Given the description of an element on the screen output the (x, y) to click on. 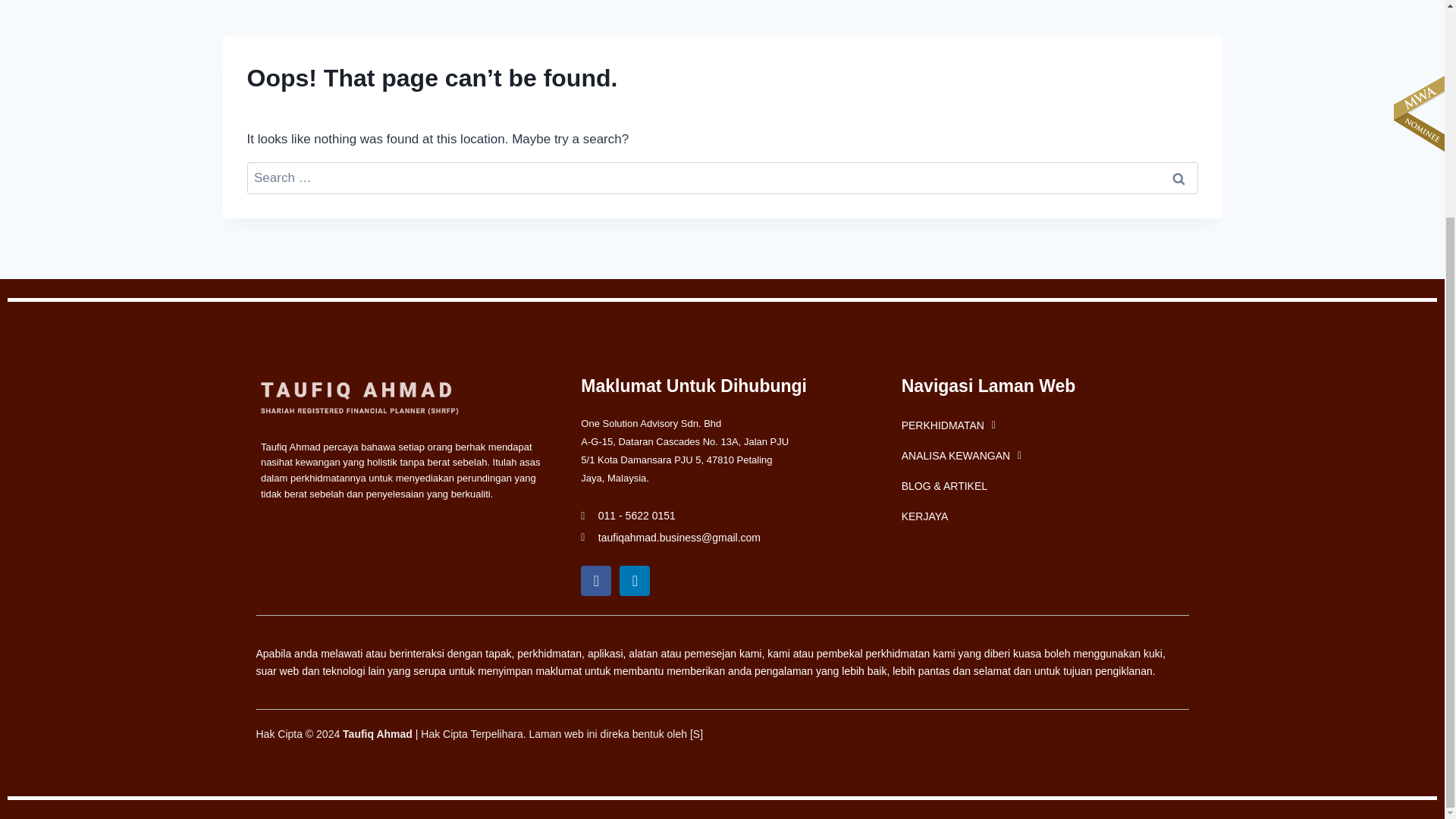
PERKHIDMATAN (1042, 425)
Search (1179, 178)
Search (1179, 178)
ANALISA KEWANGAN (1042, 455)
Search (1179, 178)
011 - 5622 0151 (721, 515)
KERJAYA (1042, 516)
